Given the description of an element on the screen output the (x, y) to click on. 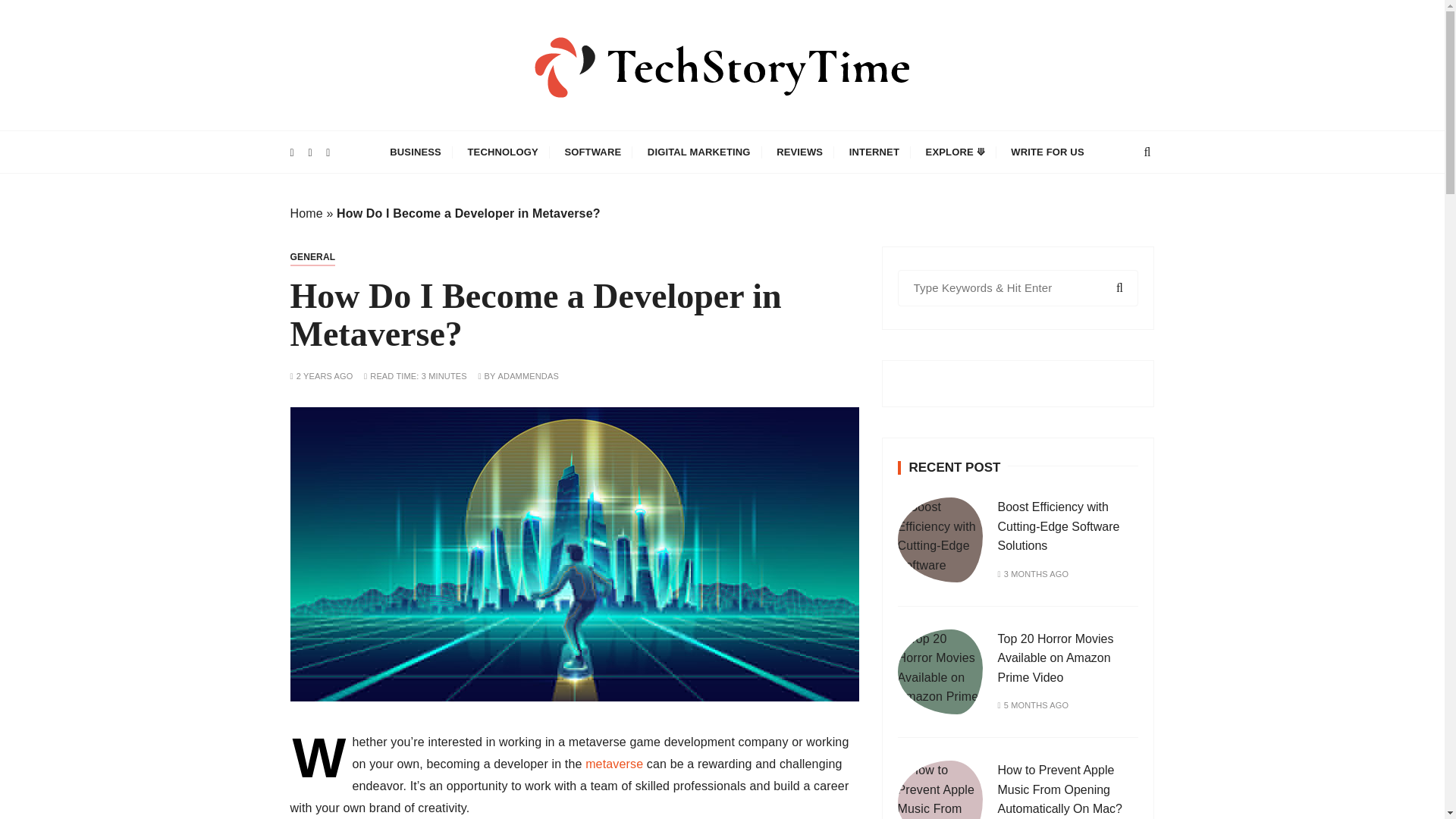
BUSINESS (415, 151)
SOFTWARE (592, 151)
DIGITAL MARKETING (698, 151)
INTERNET (874, 151)
WRITE FOR US (1046, 151)
metaverse (614, 763)
TECHNOLOGY (503, 151)
REVIEWS (799, 151)
ADAMMENDAS (528, 376)
GENERAL (311, 257)
